Given the description of an element on the screen output the (x, y) to click on. 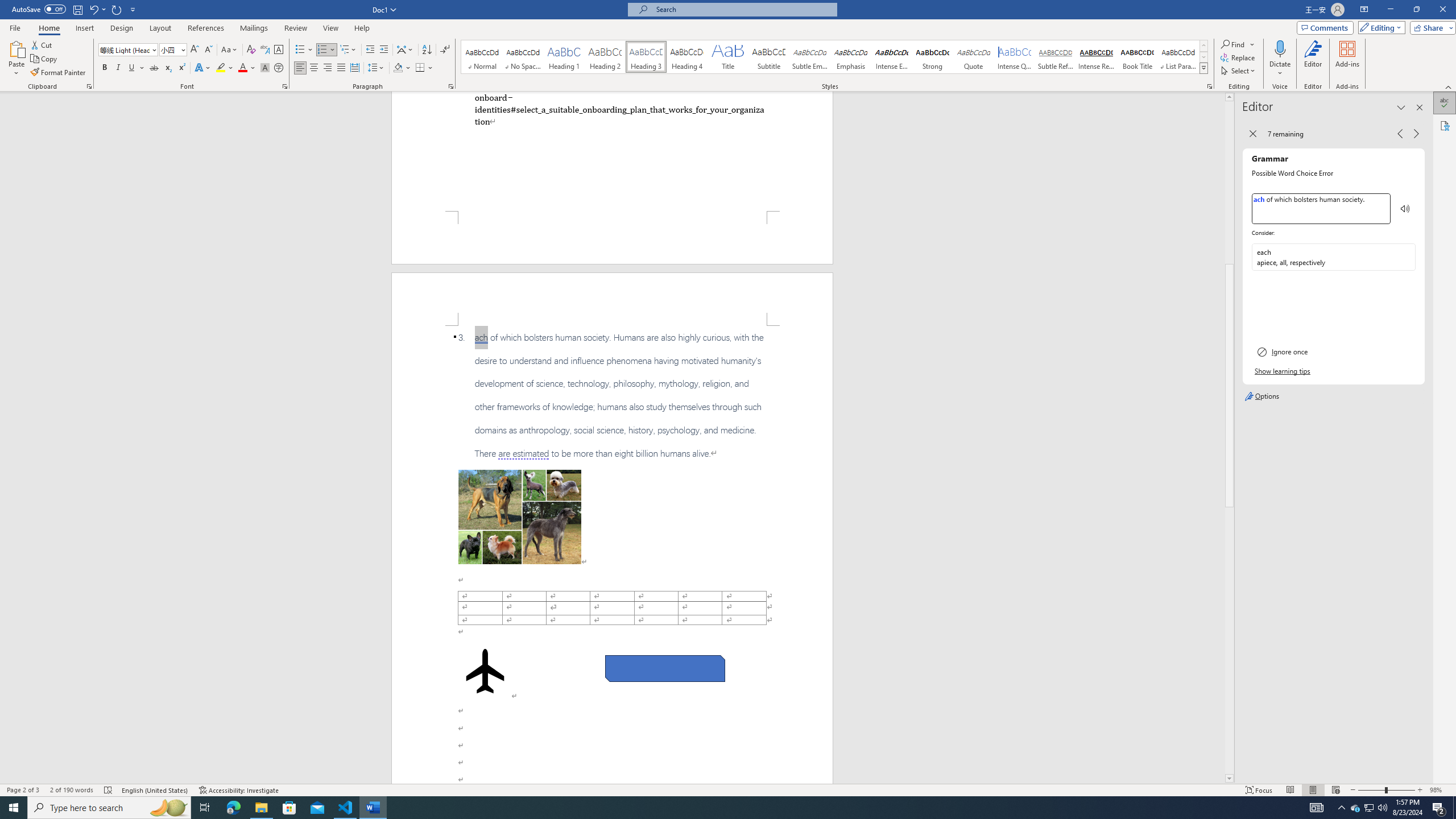
View (330, 28)
Styles (1203, 67)
Heading 1 (564, 56)
Collapse the Ribbon (1448, 86)
Undo Apply Quick Style (96, 9)
each (1333, 257)
File Tab (15, 27)
Strikethrough (154, 67)
Microsoft search (742, 9)
Text Highlight Color (224, 67)
Editor (1444, 102)
